Given the description of an element on the screen output the (x, y) to click on. 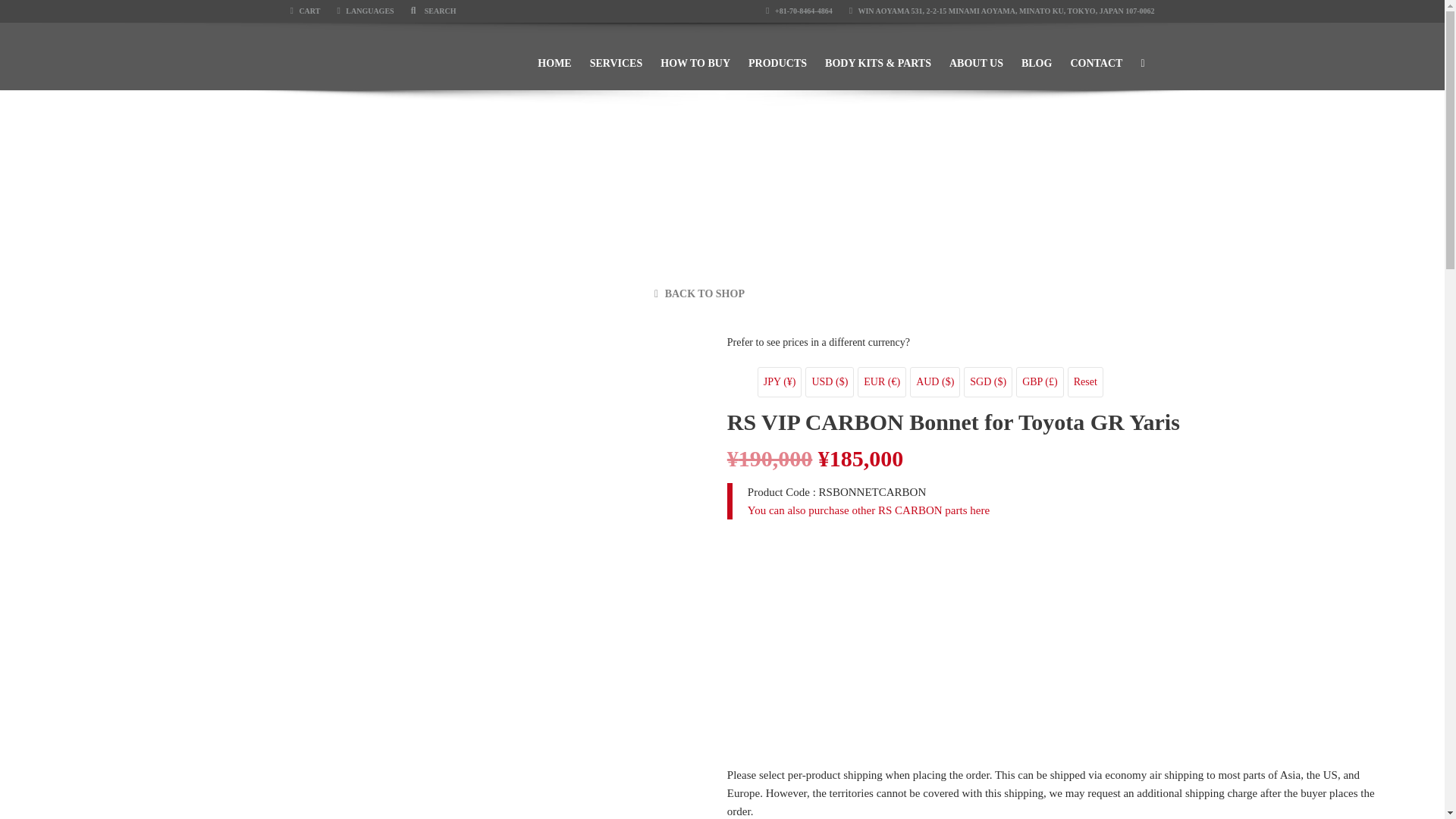
HOW TO BUY (694, 56)
SERVICES (616, 56)
CONTACT (1096, 56)
PRODUCTS (777, 56)
LANGUAGES (364, 10)
CART (304, 10)
ABOUT US (975, 56)
